Given the description of an element on the screen output the (x, y) to click on. 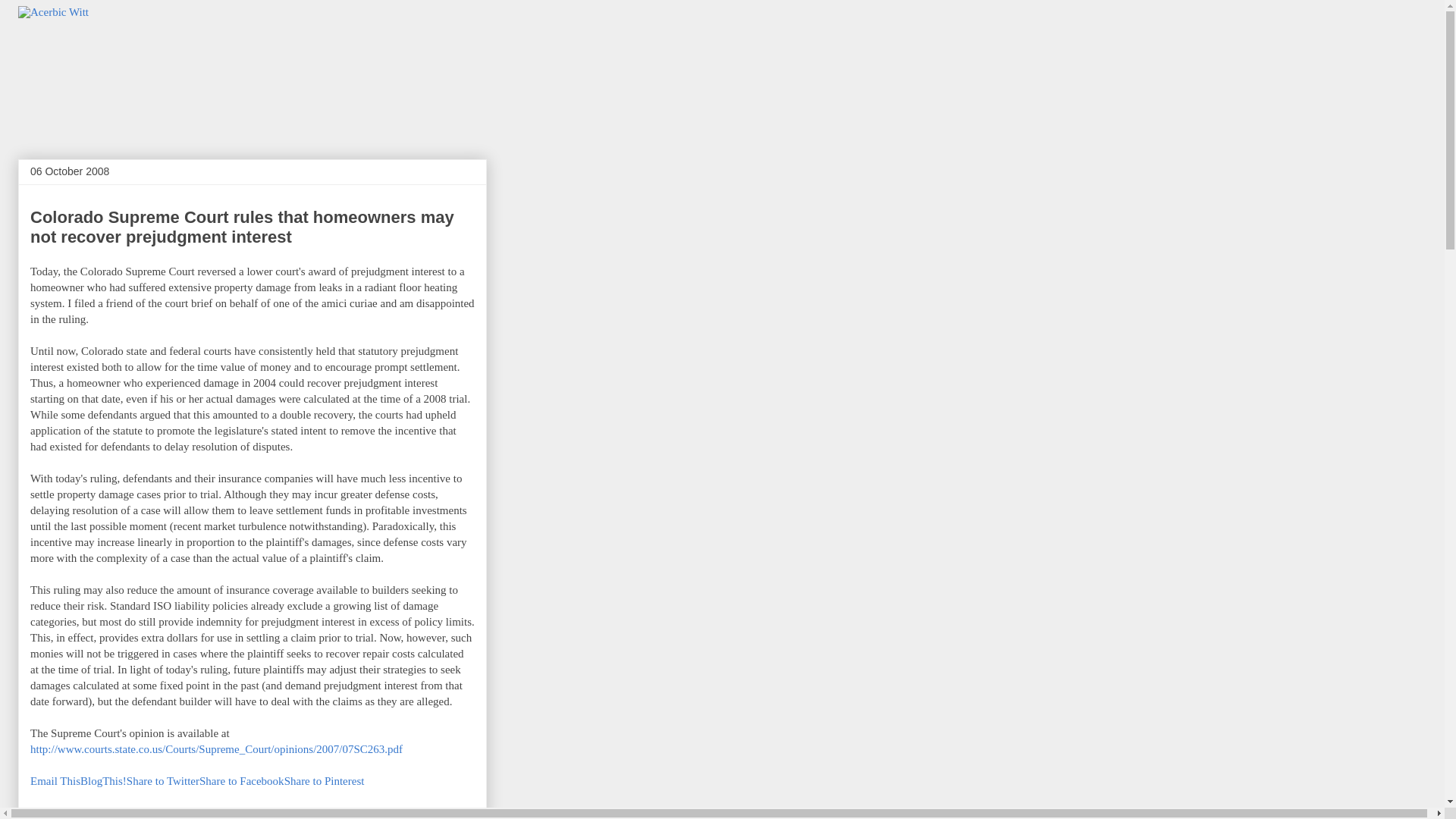
Share to Pinterest (324, 780)
Share to Twitter (162, 780)
BlogThis! (103, 780)
Share to Facebook (241, 780)
Share to Pinterest (324, 780)
Email This (55, 780)
Share to Twitter (162, 780)
BlogThis! (103, 780)
Share to Facebook (241, 780)
Email This (55, 780)
